Given the description of an element on the screen output the (x, y) to click on. 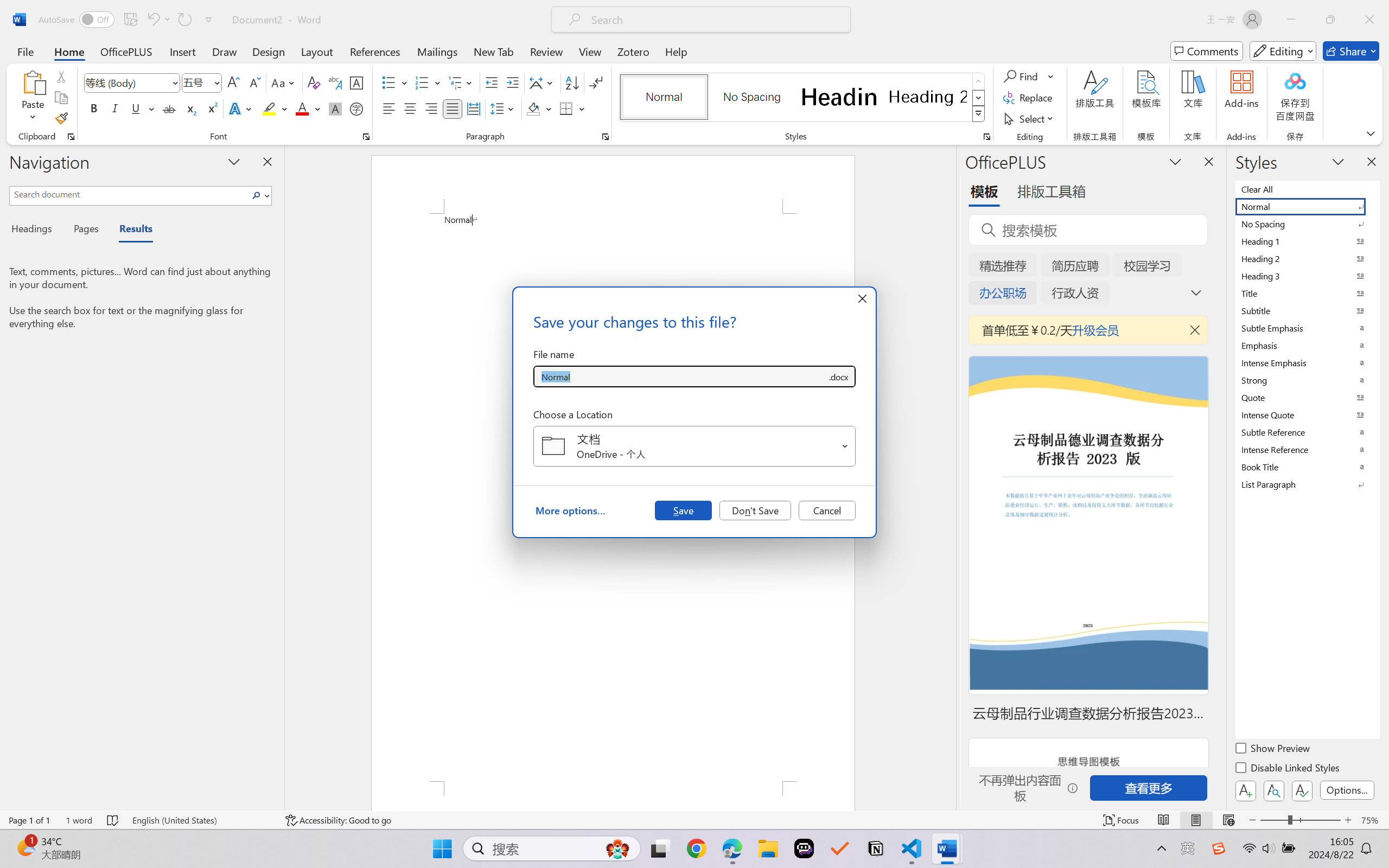
Restore Down (1330, 19)
Borders (566, 108)
Row Down (978, 97)
Align Left (388, 108)
Office Clipboard... (70, 136)
Strikethrough (169, 108)
Align Right (431, 108)
Shrink Font (253, 82)
Font (126, 82)
